Given the description of an element on the screen output the (x, y) to click on. 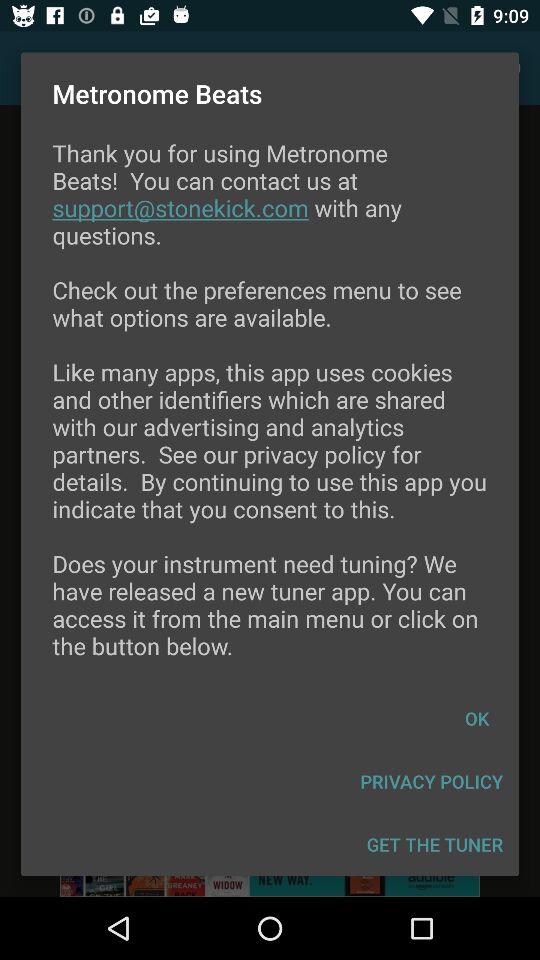
scroll to the privacy policy (431, 781)
